Given the description of an element on the screen output the (x, y) to click on. 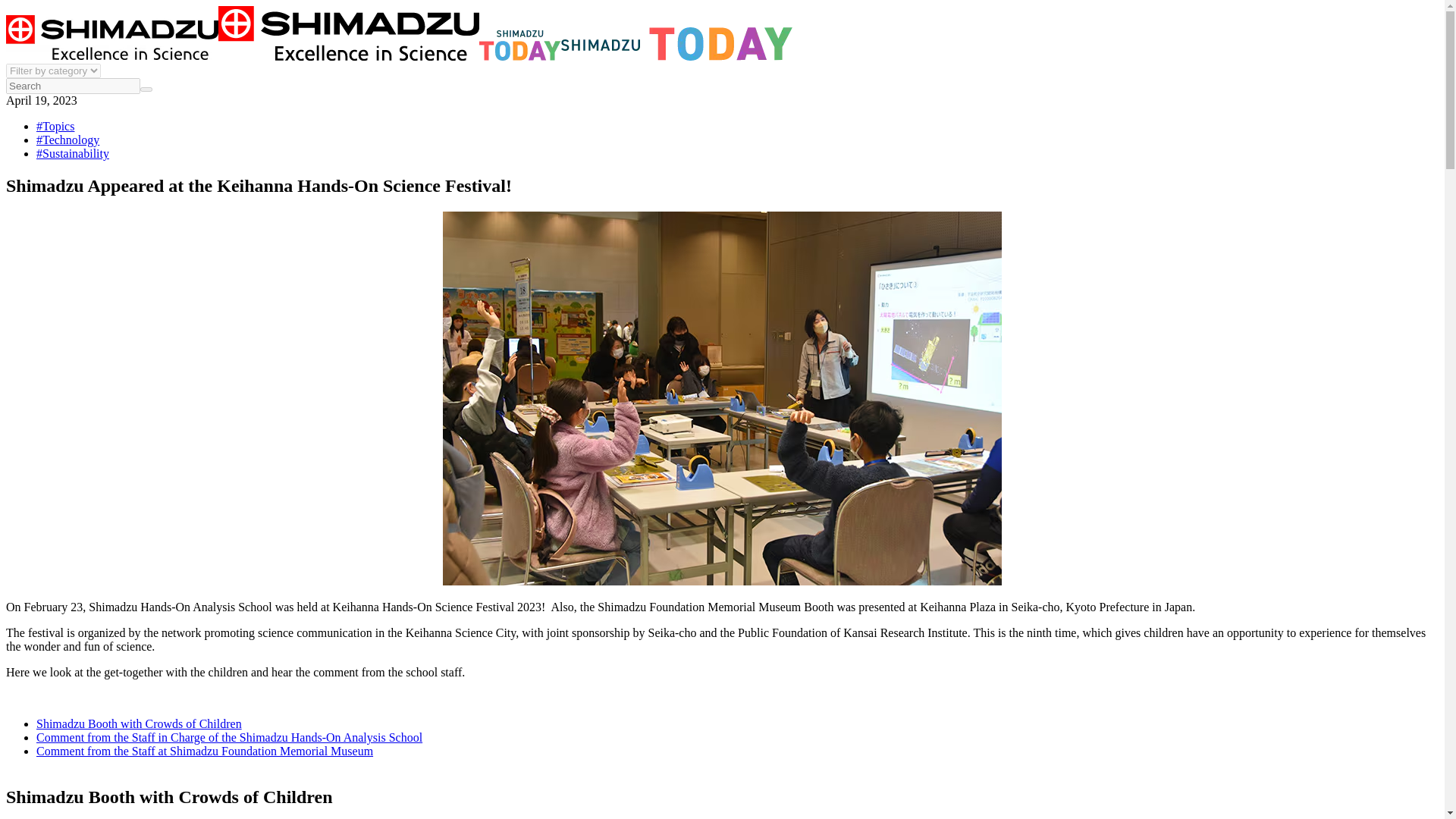
Shimadzu Booth with Crowds of Children (138, 723)
